Given the description of an element on the screen output the (x, y) to click on. 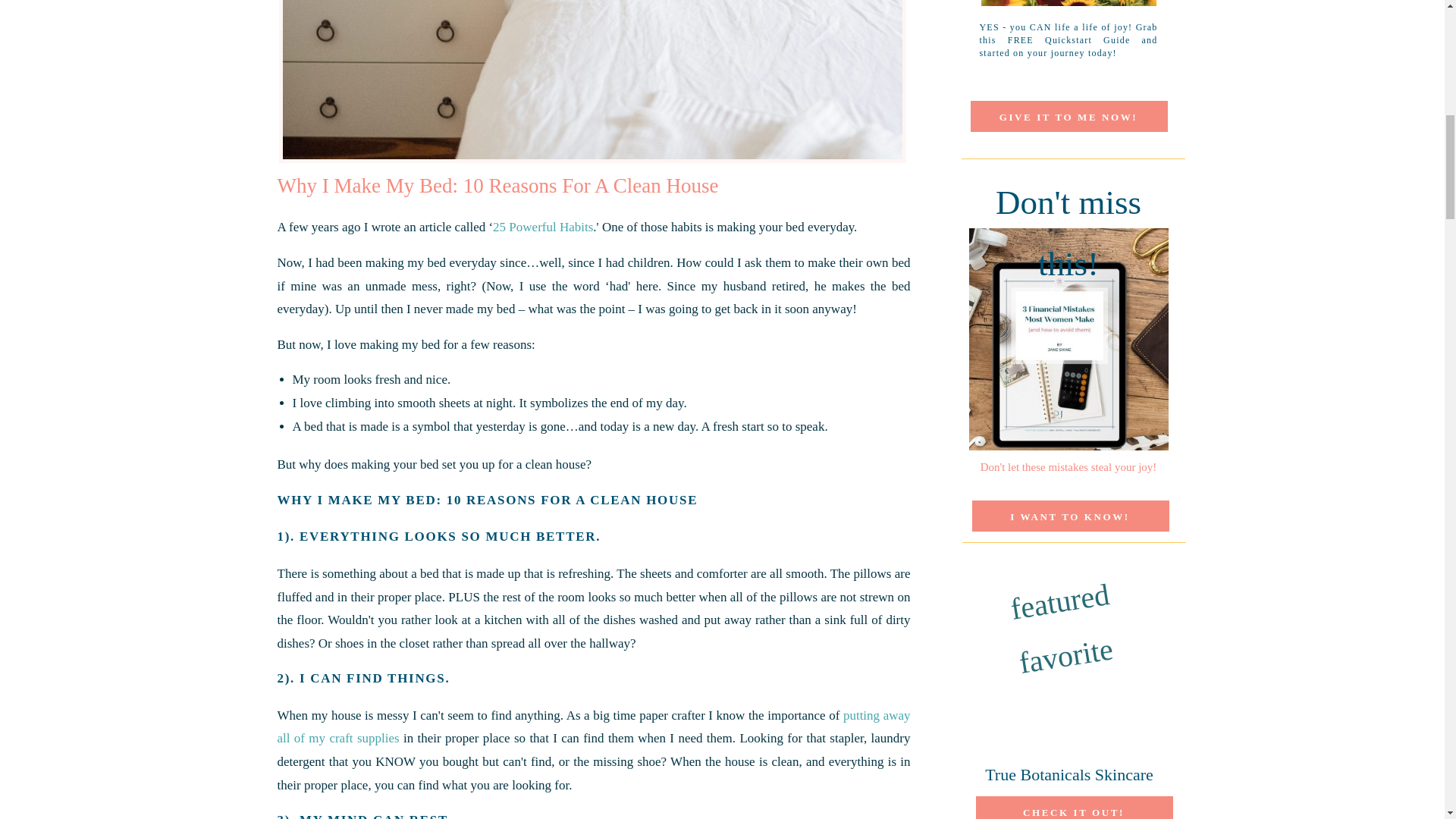
I WANT TO KNOW! (1070, 514)
25 Powerful Habits (542, 227)
CHECK IT OUT! (1074, 810)
putting away all of my craft supplies (594, 727)
GIVE IT TO ME NOW! (1068, 115)
